Given the description of an element on the screen output the (x, y) to click on. 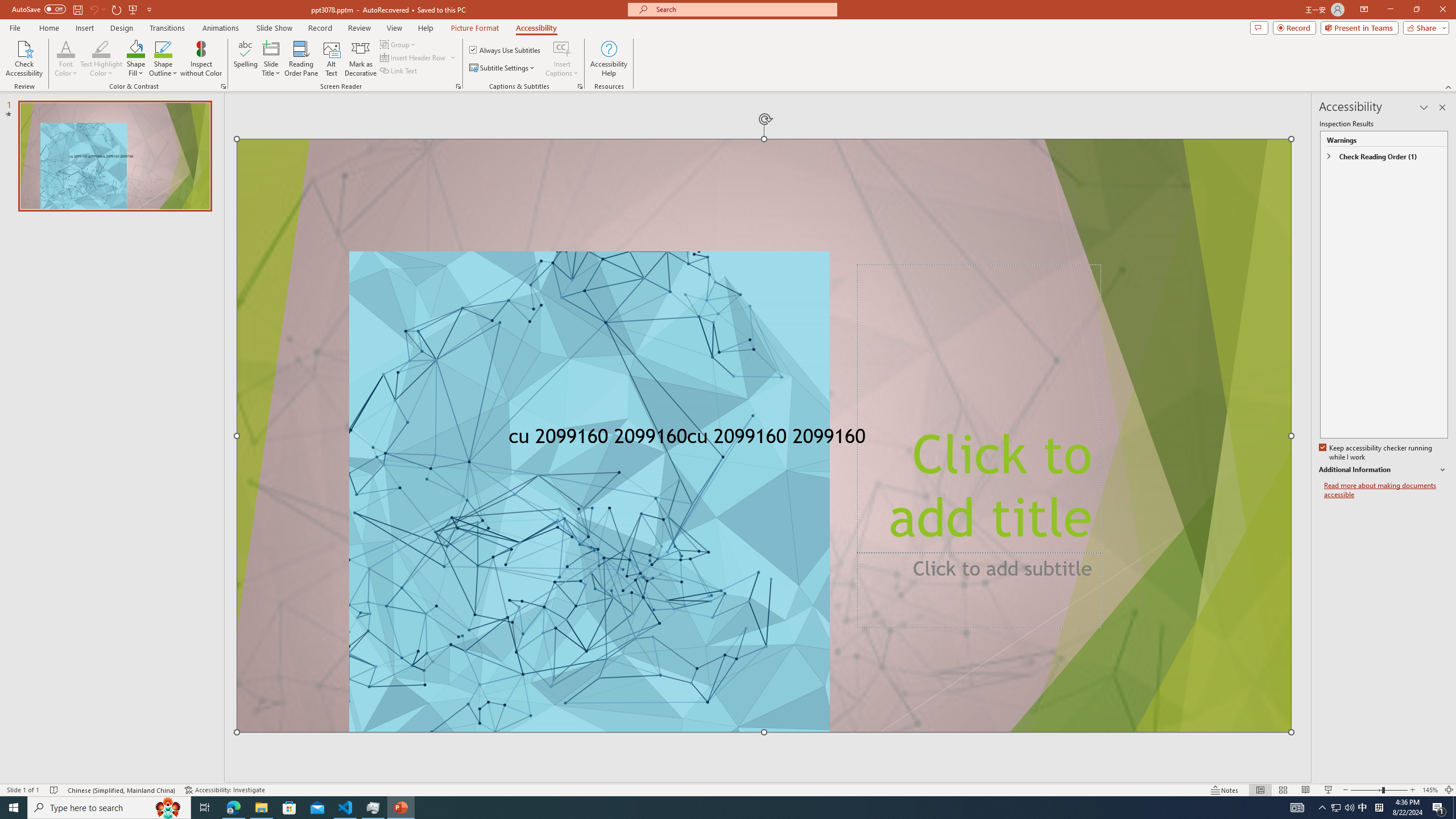
Accessibility Help (608, 58)
Always Use Subtitles (505, 49)
